Given the description of an element on the screen output the (x, y) to click on. 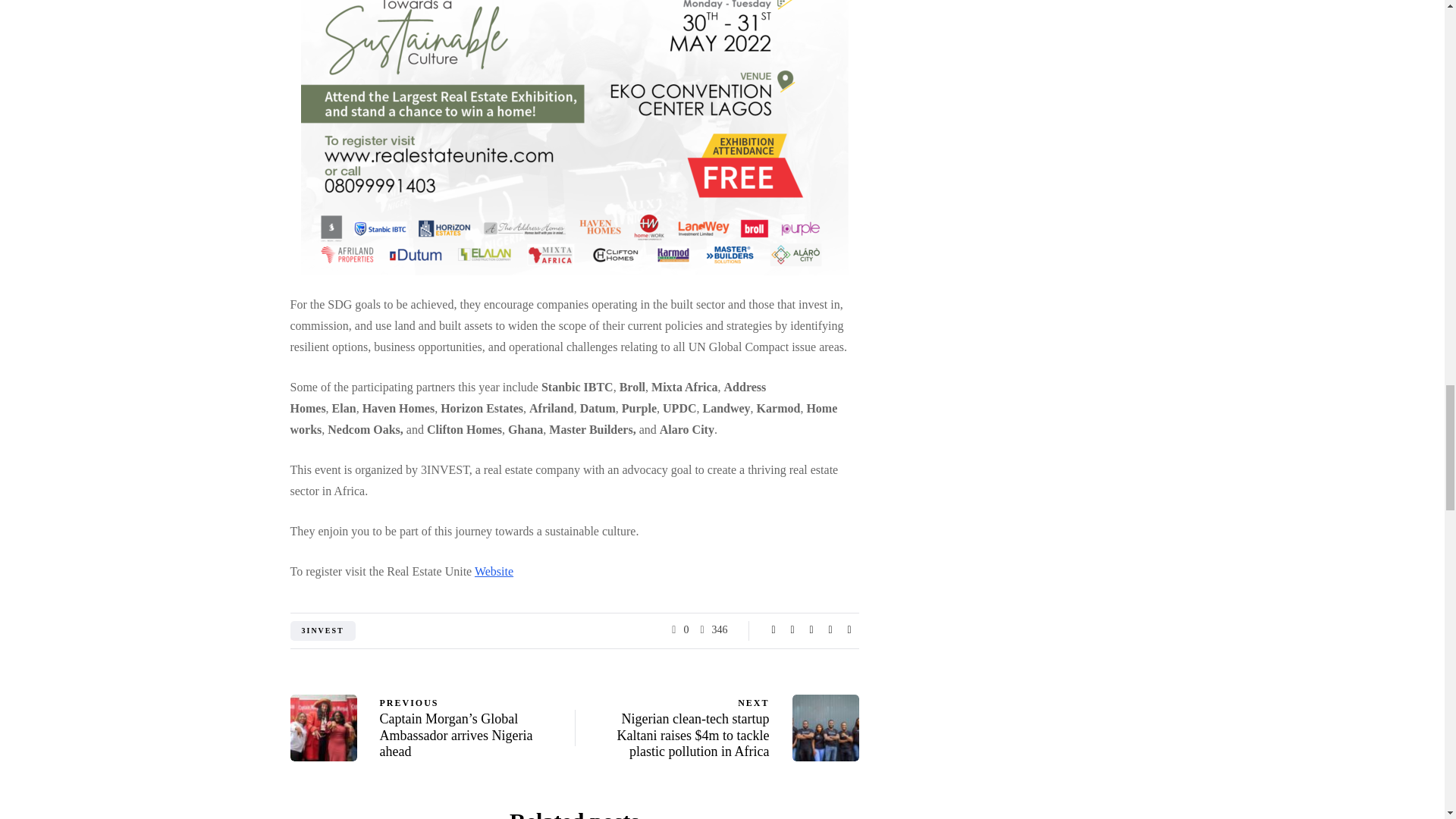
Share by Email (849, 630)
Tweet this (792, 630)
Share with LinkedIn (811, 630)
Share with Facebook (773, 630)
Pin this (830, 630)
